Given the description of an element on the screen output the (x, y) to click on. 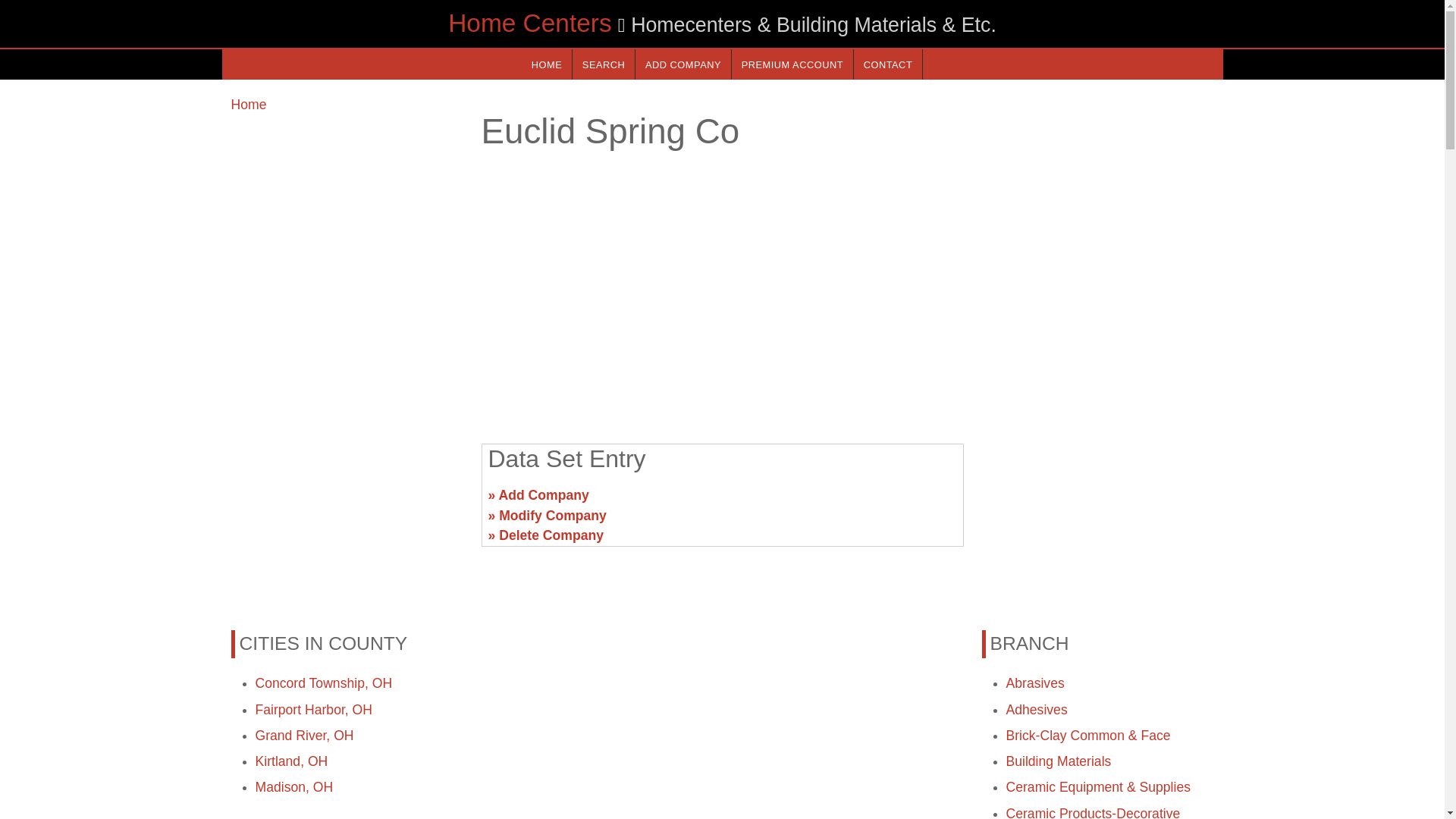
Concord Township, OH (322, 683)
Madison, OH (293, 786)
Grand River, OH (303, 735)
Fairport Harbor, OH (312, 709)
Home (248, 104)
Abrasives (1035, 683)
Building Materials (1058, 761)
Home Centers (529, 22)
SEARCH (603, 64)
